Given the description of an element on the screen output the (x, y) to click on. 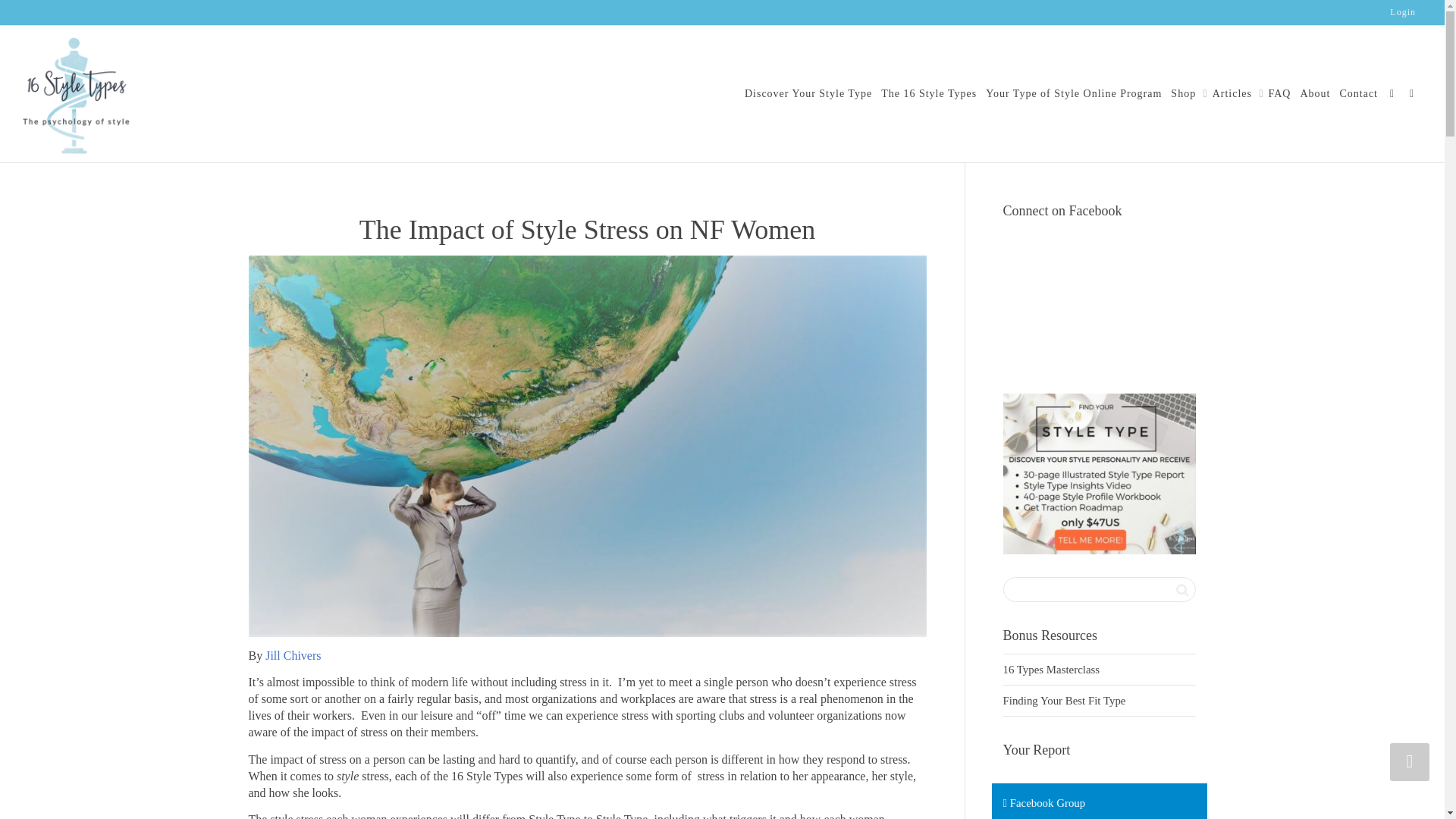
Your Type of Style Online Program (1073, 93)
Discover Your Style Type (808, 93)
Search (1181, 589)
Search (1181, 589)
Your Type of Style Online Program (1073, 93)
Discover Your Style Type (808, 93)
Login (1403, 12)
Login (1403, 12)
